Given the description of an element on the screen output the (x, y) to click on. 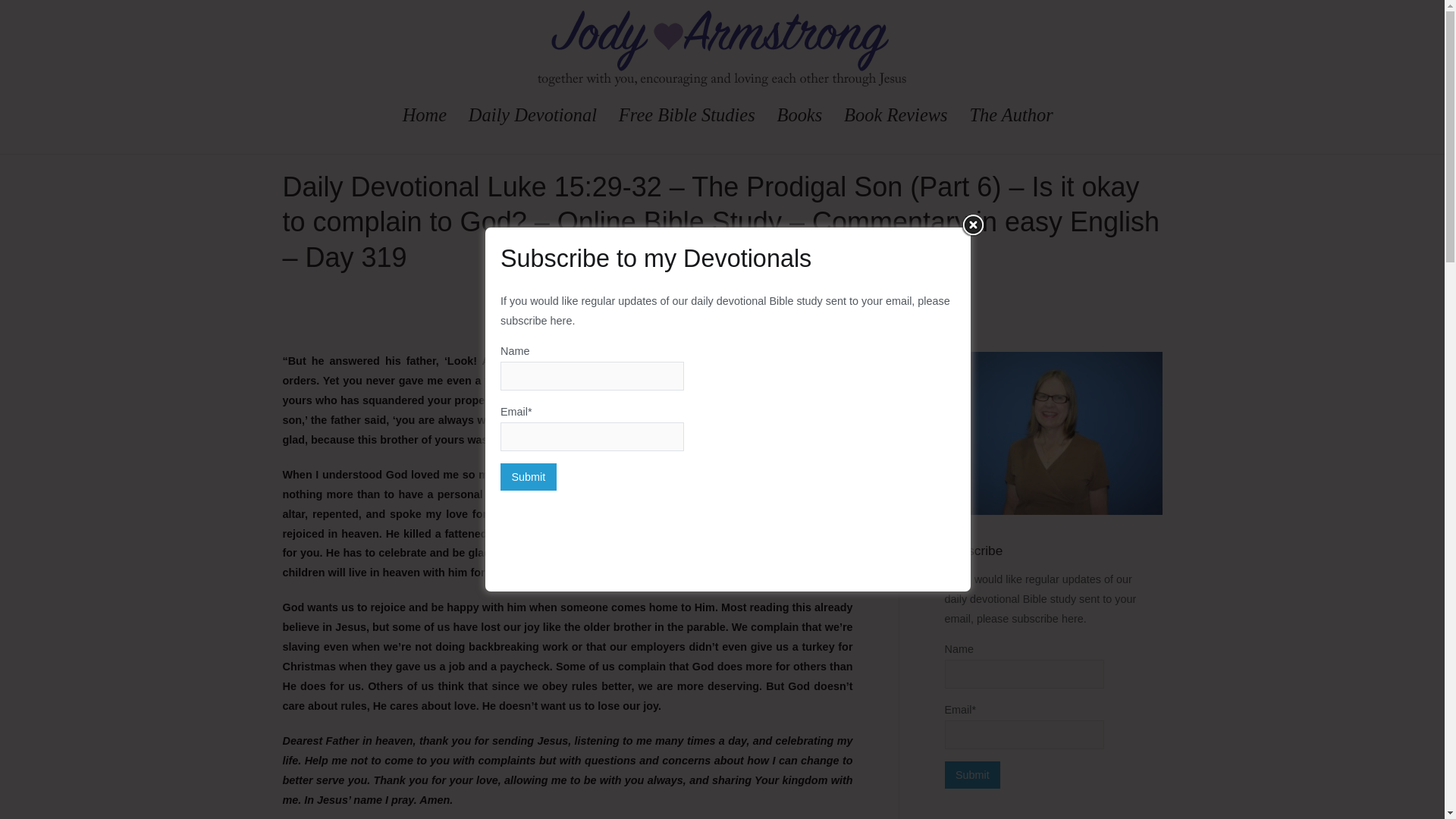
Submit (528, 476)
Book Reviews (895, 114)
Submit (972, 774)
Submit (972, 774)
Jody Armstrong (771, 97)
Home (424, 114)
Books (799, 114)
The Author (1010, 114)
Daily Devotional (532, 114)
Free Bible Studies (686, 114)
